Given the description of an element on the screen output the (x, y) to click on. 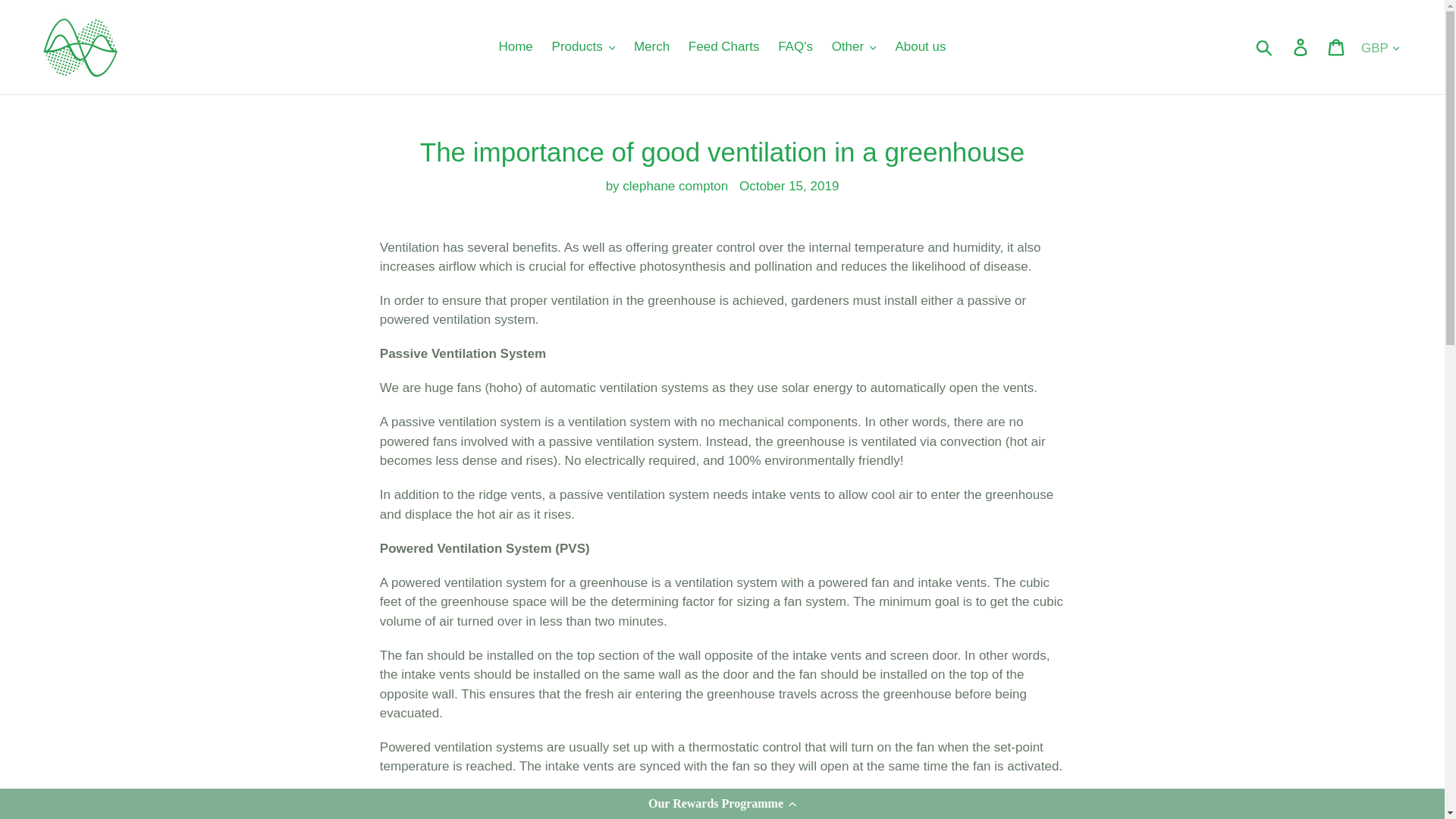
Submit (1265, 46)
Feed Charts (724, 46)
FAQ's (795, 46)
About us (919, 46)
Home (515, 46)
Cart (1337, 46)
Log in (1301, 46)
Merch (651, 46)
